Given the description of an element on the screen output the (x, y) to click on. 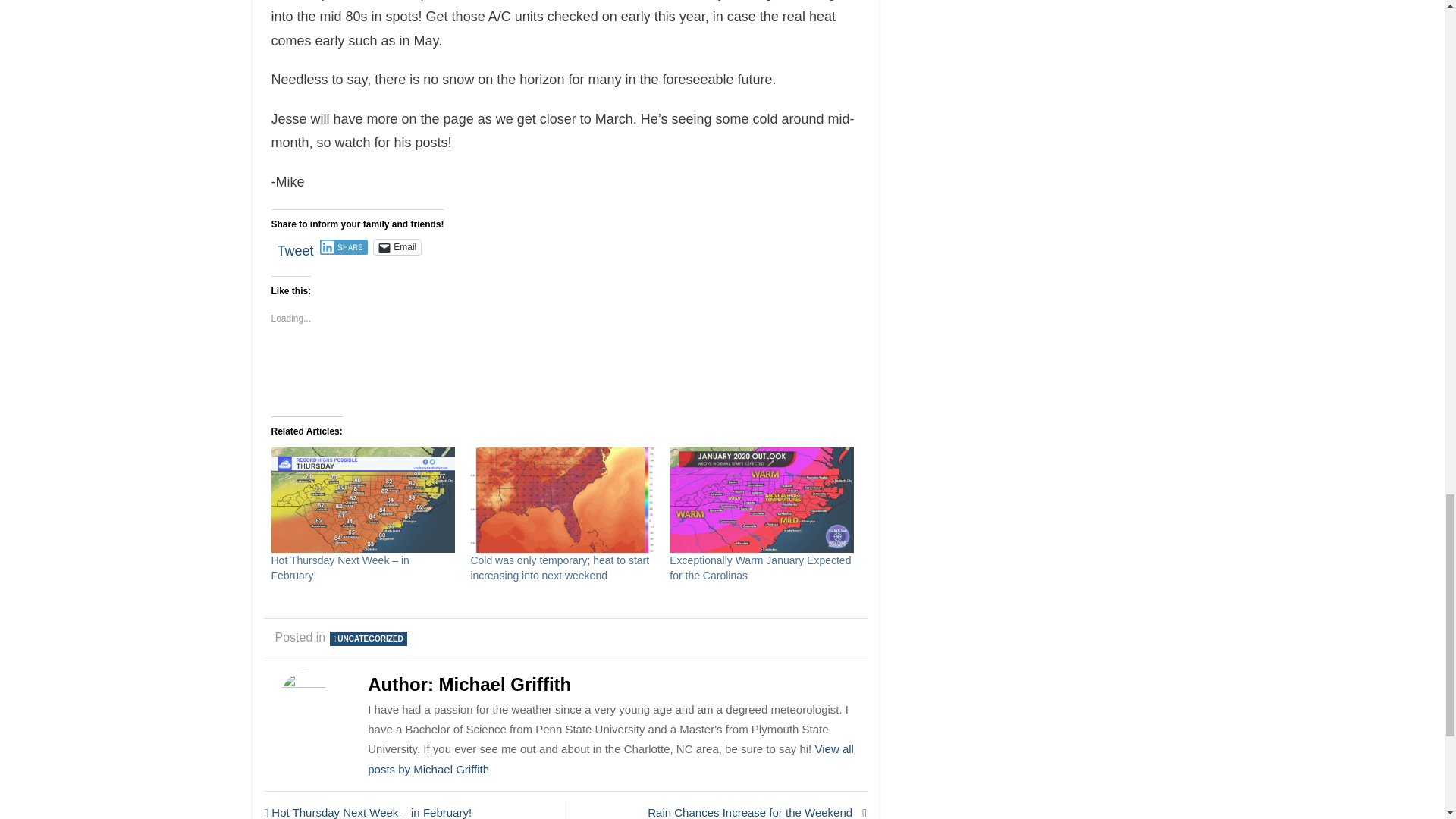
UNCATEGORIZED (368, 638)
Exceptionally Warm January Expected for the Carolinas (759, 567)
Click to email a link to a friend (397, 246)
Tweet (296, 246)
Email (397, 246)
SHARE (344, 246)
View all posts by Michael Griffith (610, 758)
Exceptionally Warm January Expected for the Carolinas (761, 499)
Like or Reblog (565, 368)
Exceptionally Warm January Expected for the Carolinas (759, 567)
Rain Chances Increase for the Weekend (720, 811)
